Given the description of an element on the screen output the (x, y) to click on. 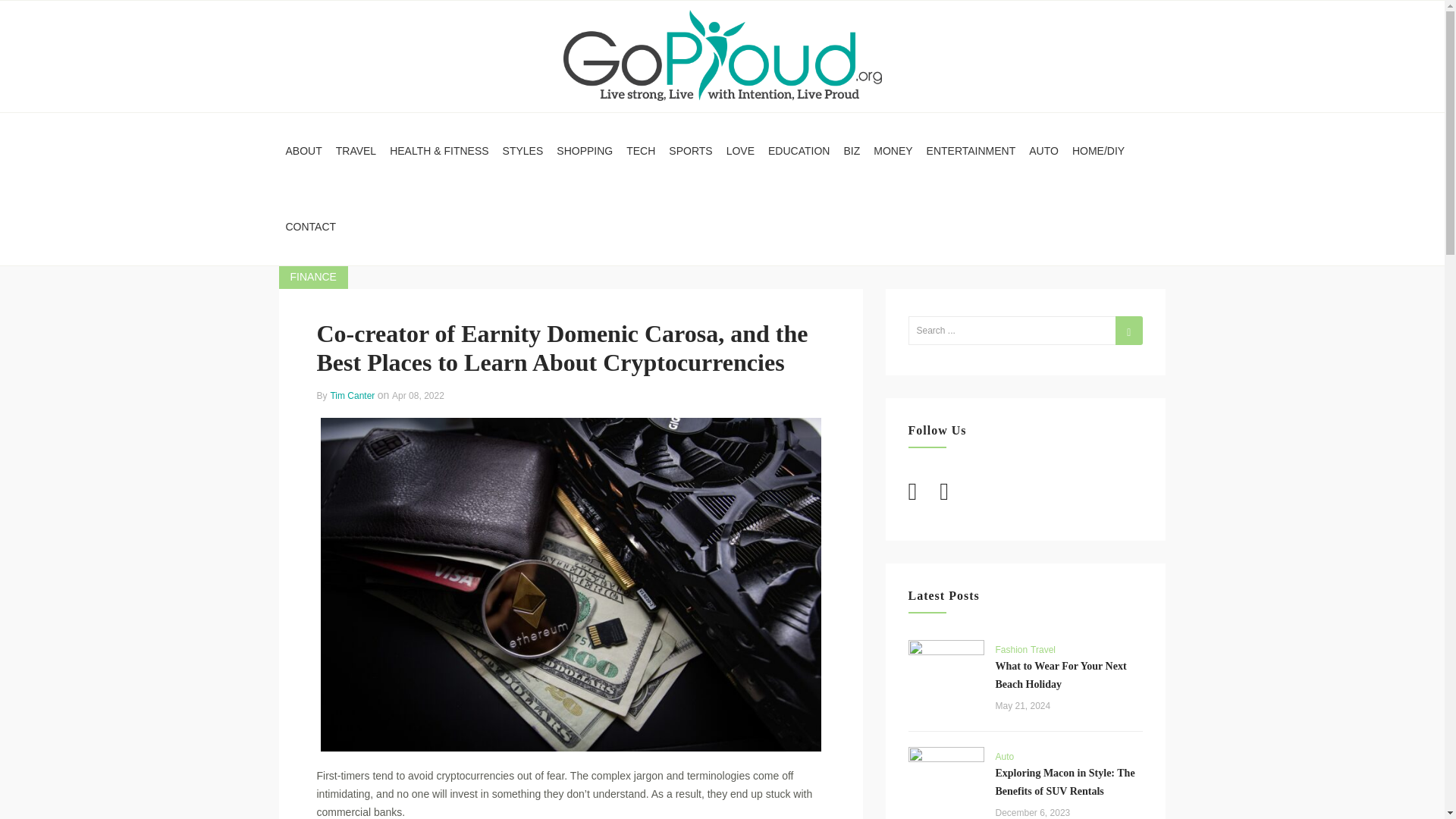
ENTERTAINMENT (971, 151)
Tim Canter (353, 395)
SHOPPING (585, 151)
EDUCATION (798, 151)
FINANCE (313, 277)
